Given the description of an element on the screen output the (x, y) to click on. 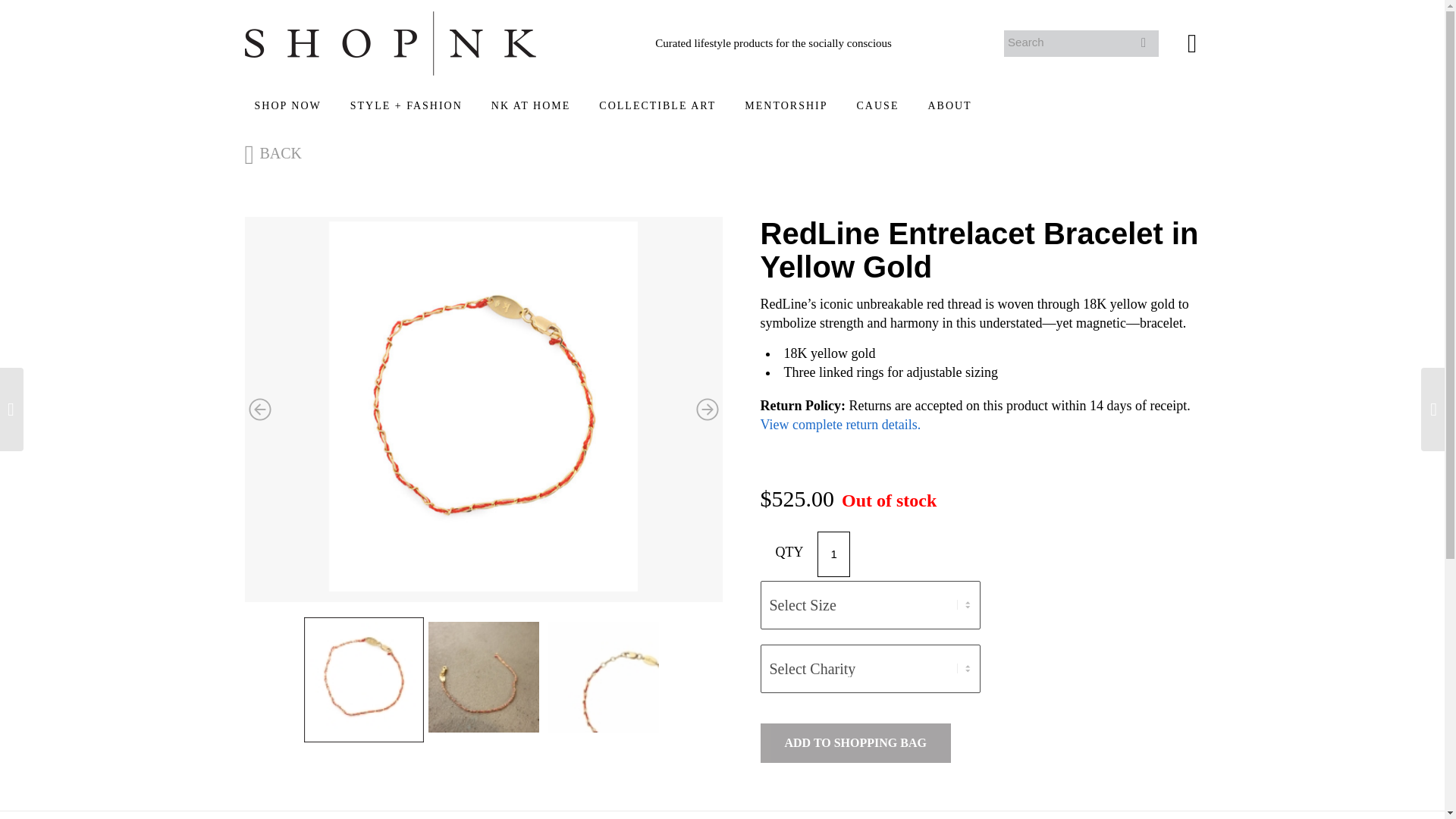
View complete return details. (840, 424)
COLLECTIBLE ART (657, 105)
Previous (259, 409)
CAUSE (877, 105)
NK AT HOME (530, 105)
SHOP NOW (287, 105)
BACK (274, 153)
Next (707, 409)
MENTORSHIP (786, 105)
ABOUT (949, 105)
ADD TO SHOPPING BAG (855, 742)
